Given the description of an element on the screen output the (x, y) to click on. 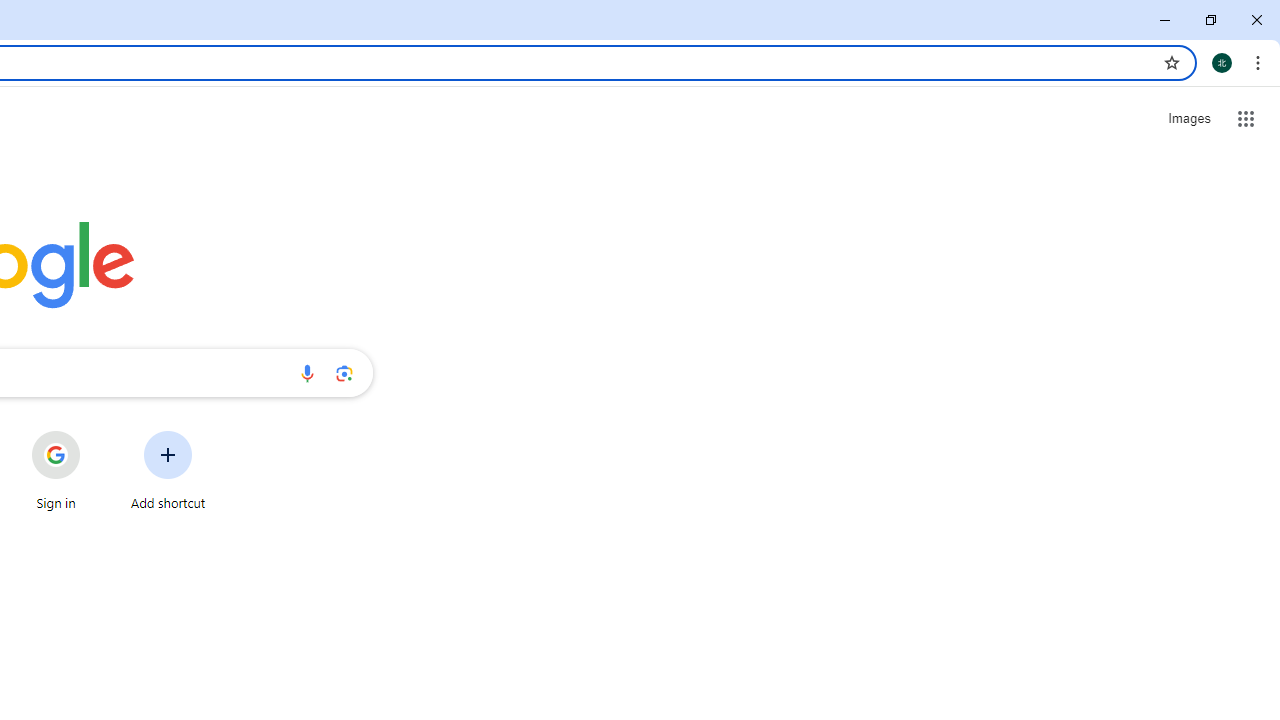
Lines (Simple) (65, 160)
Minimalist (281, 160)
Set as Default (791, 196)
Shaded (389, 160)
Effects (771, 161)
Editing (1101, 84)
Page Borders... (1151, 161)
Colors (613, 161)
